Given the description of an element on the screen output the (x, y) to click on. 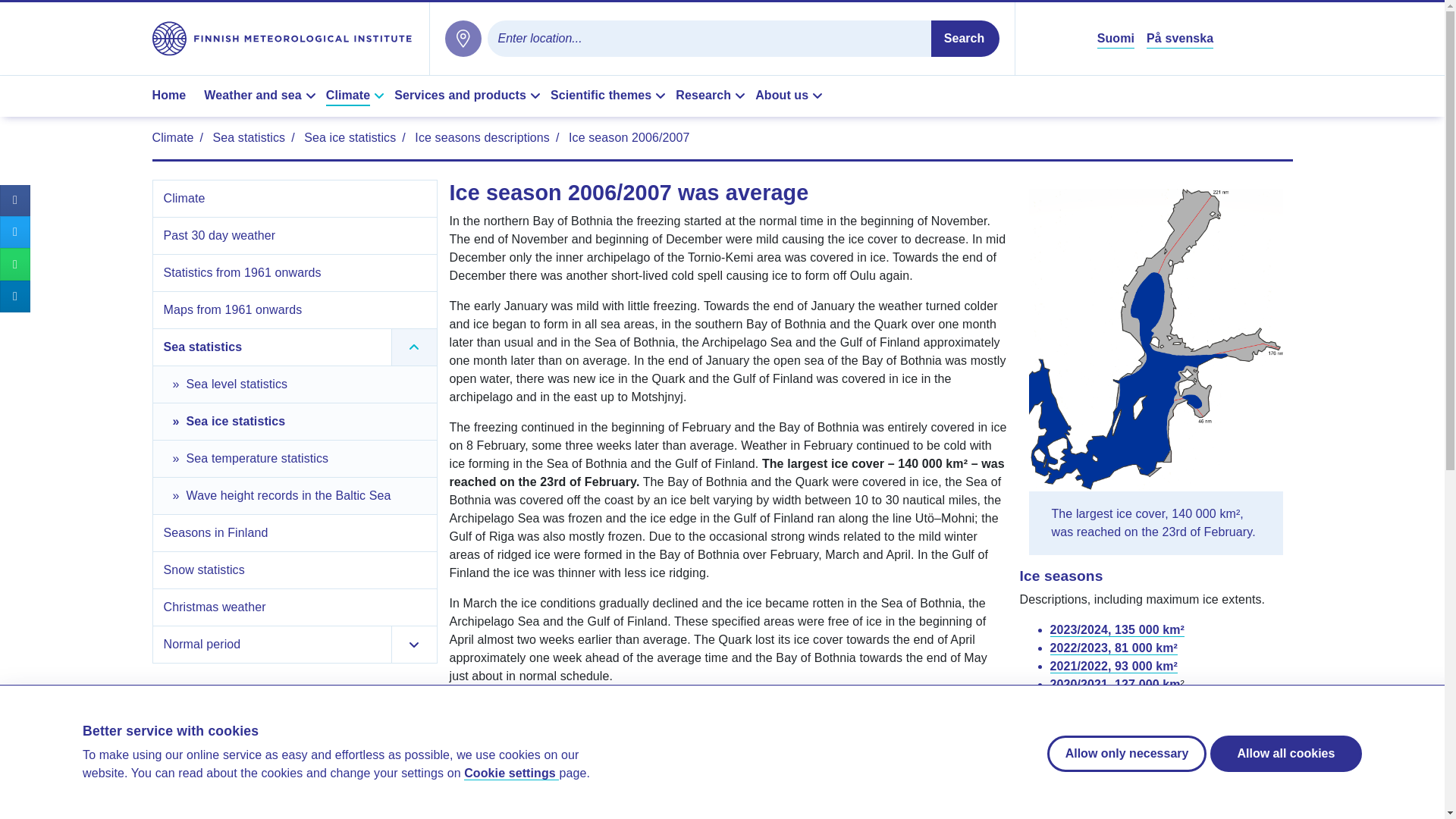
Suomi (1115, 37)
Climate (172, 137)
Christmas weather (296, 606)
Research (712, 96)
Climate (357, 96)
Snow statistics (296, 570)
Services and products (469, 96)
Ice seasons descriptions (482, 137)
Maps from 1961 onwards (296, 309)
Sea statistics (248, 137)
